Given the description of an element on the screen output the (x, y) to click on. 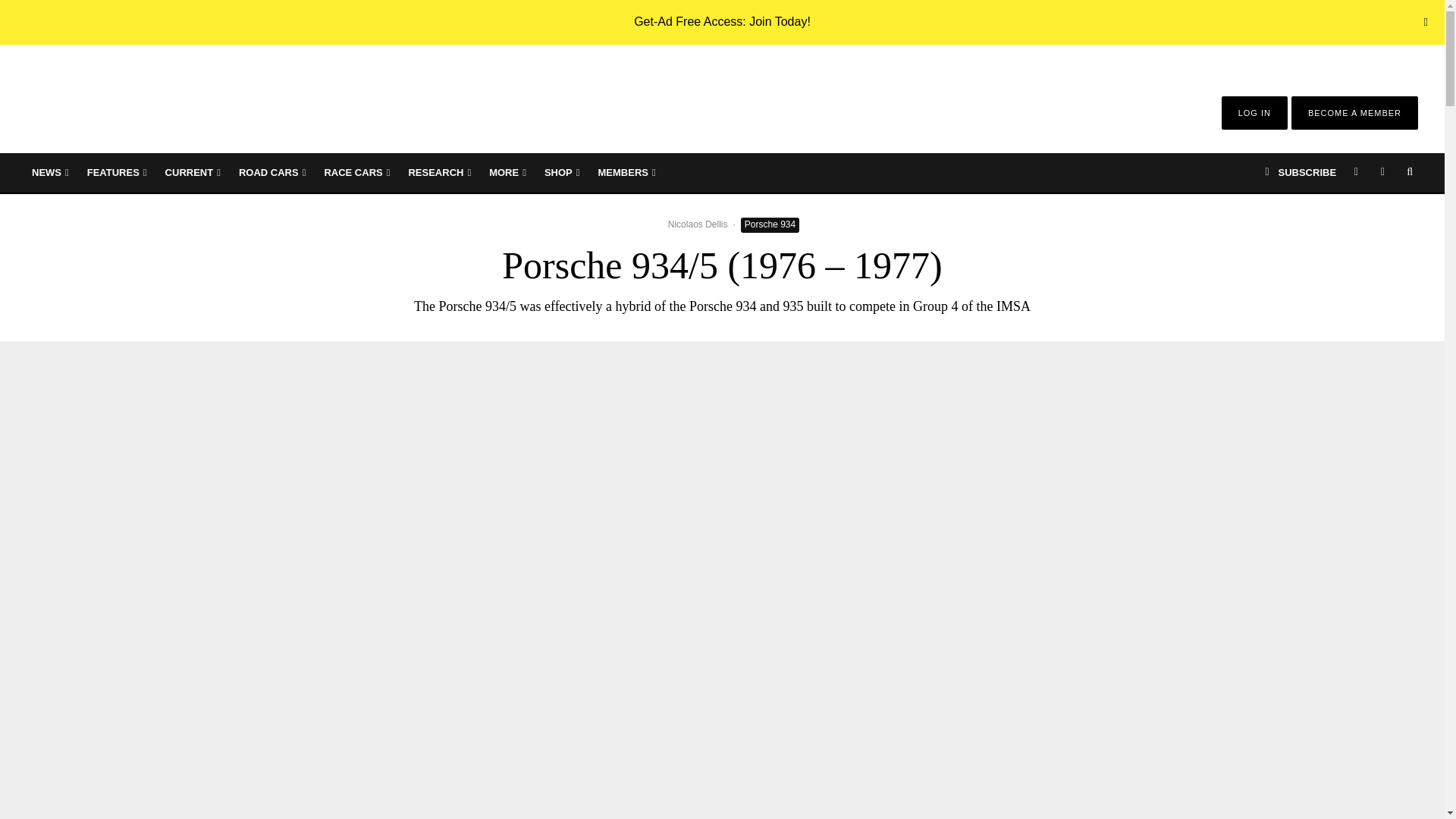
ROAD CARS (272, 172)
FEATURES (116, 172)
LOG IN (1255, 112)
BECOME A MEMBER (1353, 112)
NEWS (50, 172)
Get-Ad Free Access: Join Today! (721, 21)
Get-Ad Free Access: Join Today! (721, 21)
CURRENT (192, 172)
